Given the description of an element on the screen output the (x, y) to click on. 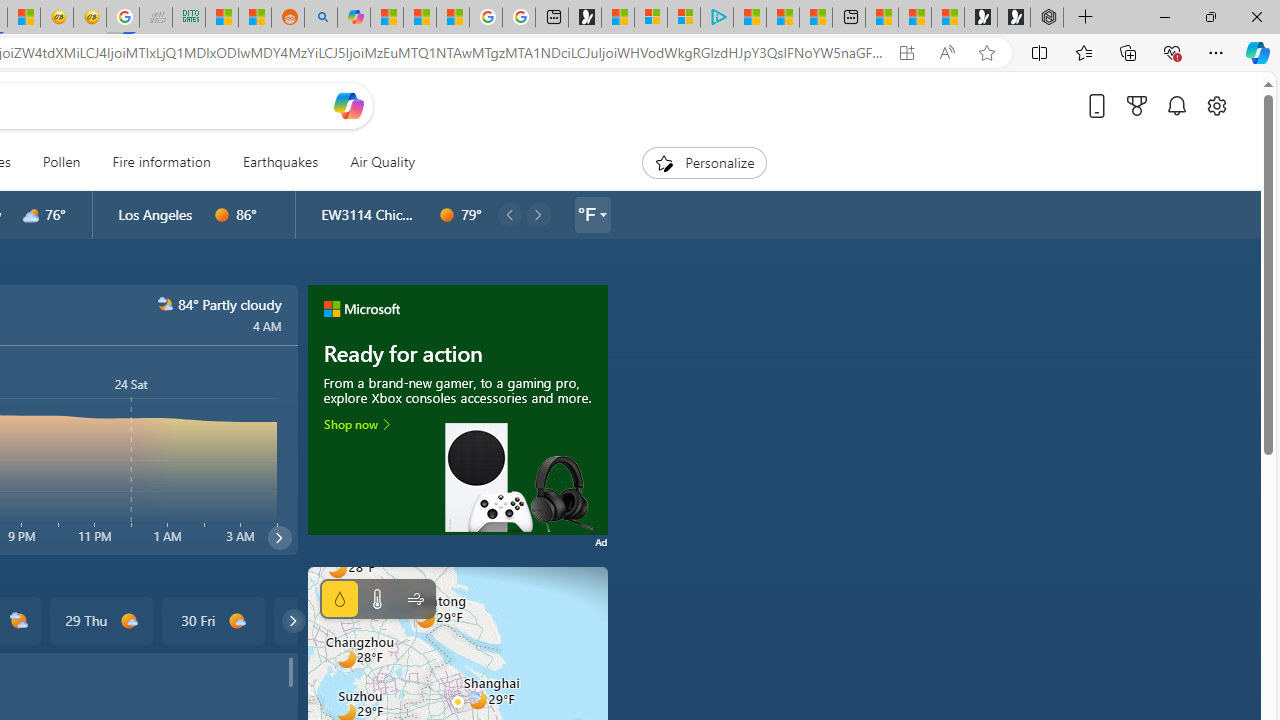
Utah sues federal government - Search (320, 17)
d2000 (19, 621)
Fire information (161, 162)
n2000 (164, 303)
Earthquakes (280, 162)
